Given the description of an element on the screen output the (x, y) to click on. 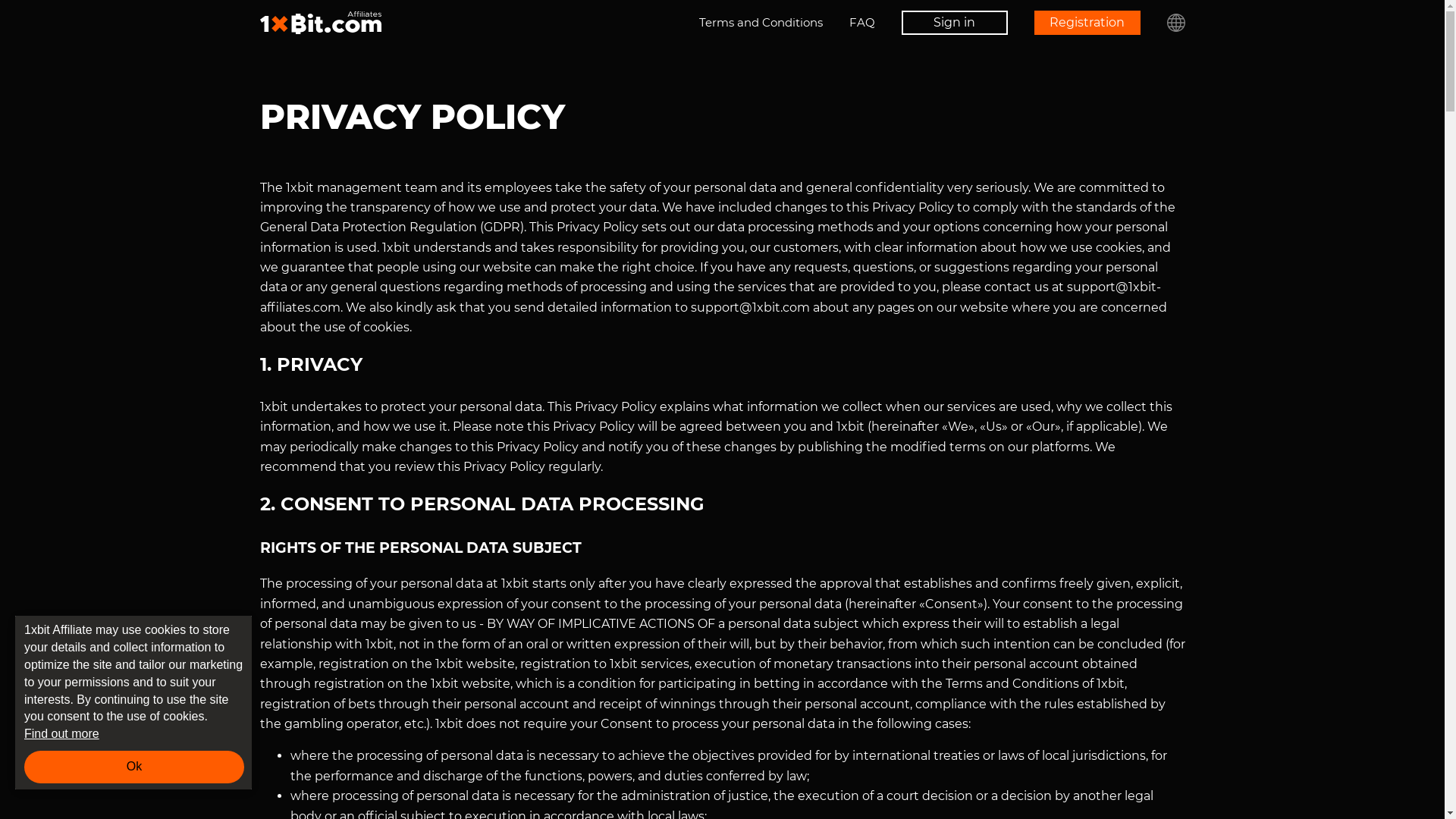
Find out more Element type: text (134, 734)
Terms and Conditions Element type: text (760, 22)
Registration Element type: text (1087, 22)
FAQ Element type: text (862, 22)
Sign in Element type: text (953, 22)
Ok Element type: text (134, 766)
